Given the description of an element on the screen output the (x, y) to click on. 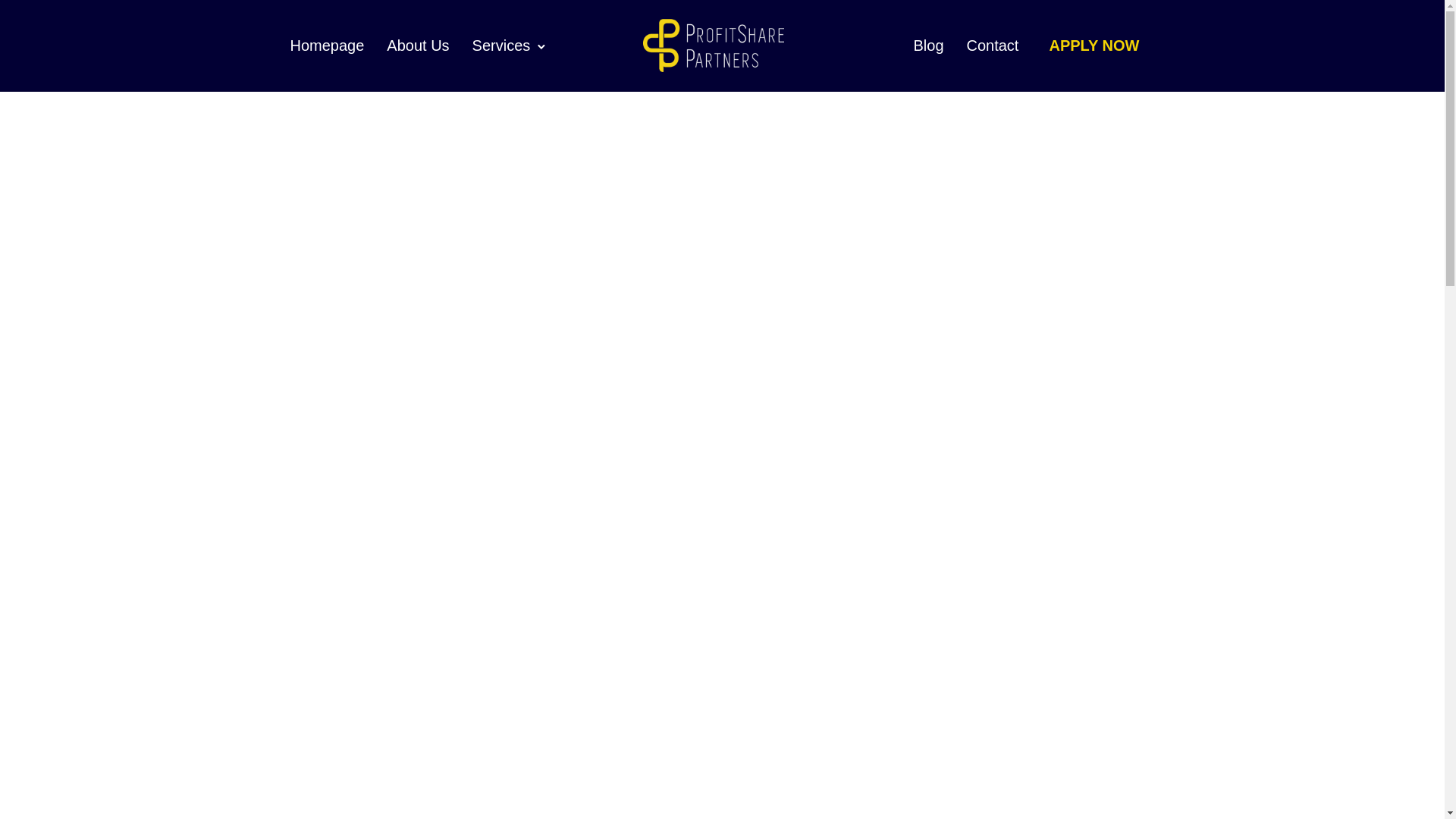
Services (501, 45)
Services (501, 45)
NEWS (721, 156)
Homepage (326, 45)
About Us (417, 45)
Homepage (326, 45)
15 August 2019 (721, 317)
Blog (927, 45)
About Us (417, 45)
Contact (992, 45)
